Given the description of an element on the screen output the (x, y) to click on. 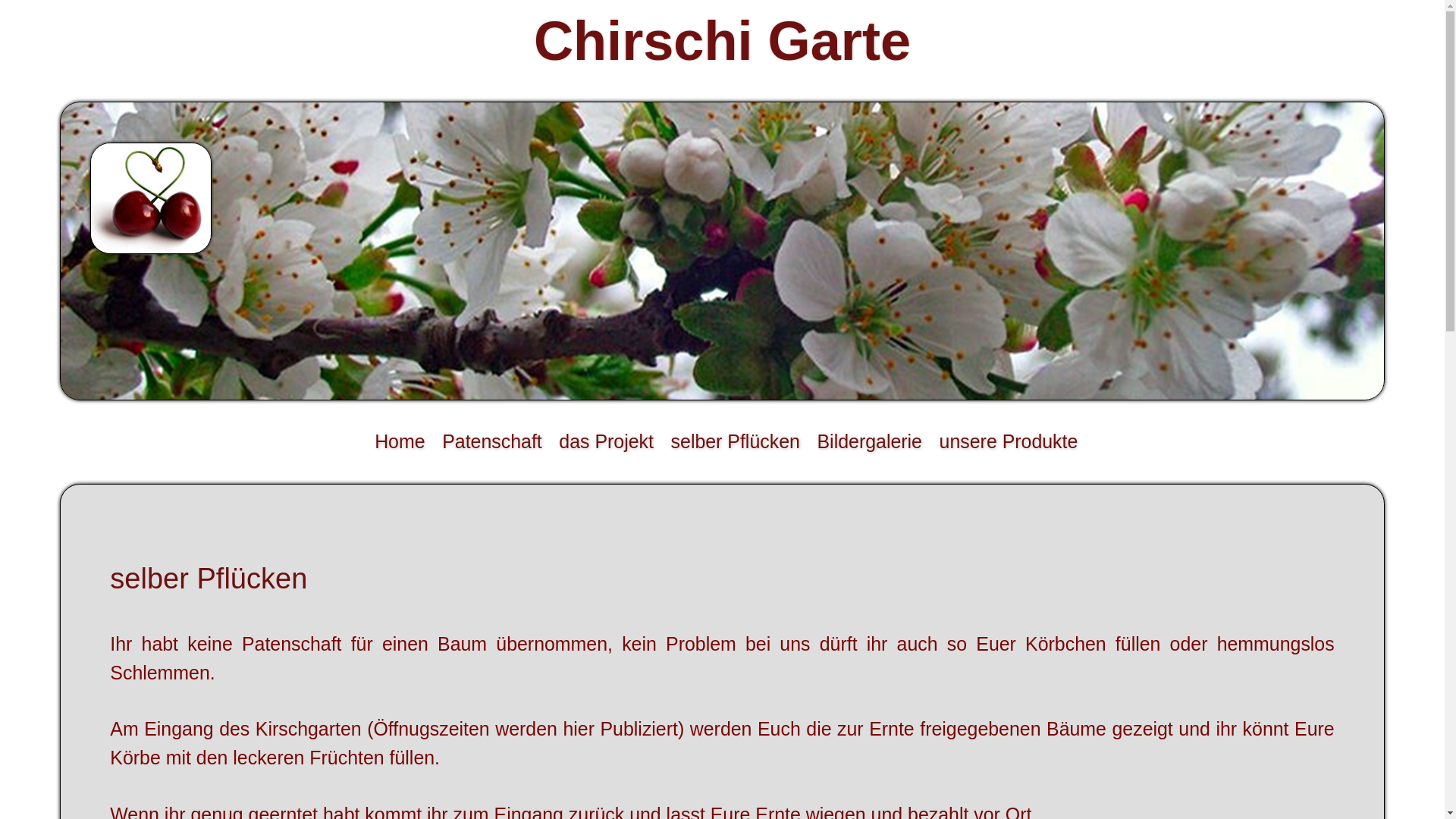
Bildergalerie Element type: text (869, 442)
Home Element type: text (400, 442)
Patenschaft Element type: text (492, 442)
das Projekt Element type: text (606, 442)
unsere Produkte Element type: text (1008, 442)
